Given the description of an element on the screen output the (x, y) to click on. 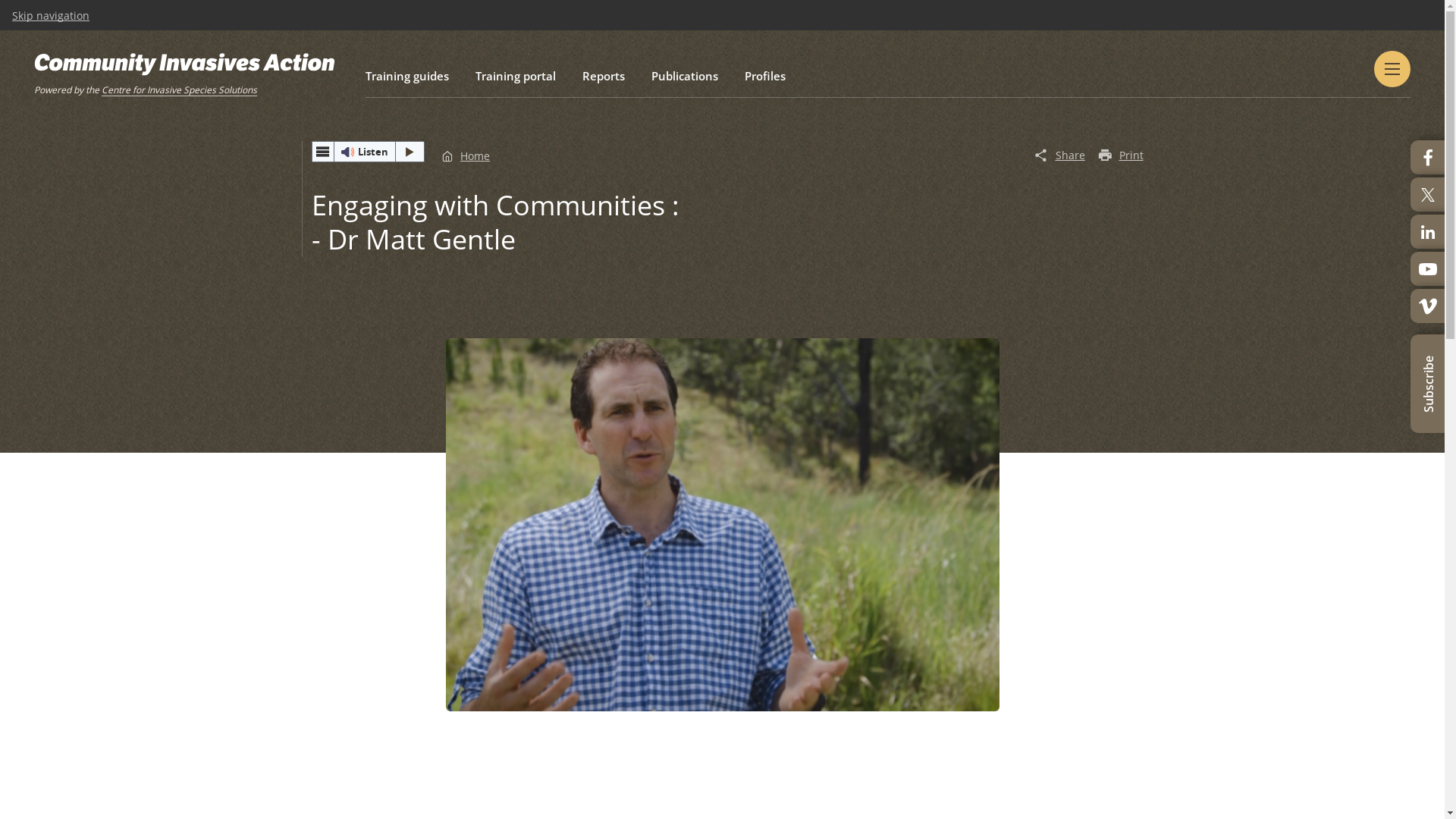
Publications Element type: text (684, 75)
webReader menu Element type: hover (321, 151)
Listen Element type: text (367, 151)
Menu Element type: hover (1392, 68)
Training guides Element type: text (406, 75)
Home Element type: text (465, 155)
Training portal Element type: text (515, 75)
Reports Element type: text (603, 75)
Share Element type: text (1059, 155)
Centre for Invasive Species Solutions Element type: text (179, 89)
Profiles Element type: text (764, 75)
Print Element type: text (1120, 155)
Skip navigation Element type: text (50, 15)
